Given the description of an element on the screen output the (x, y) to click on. 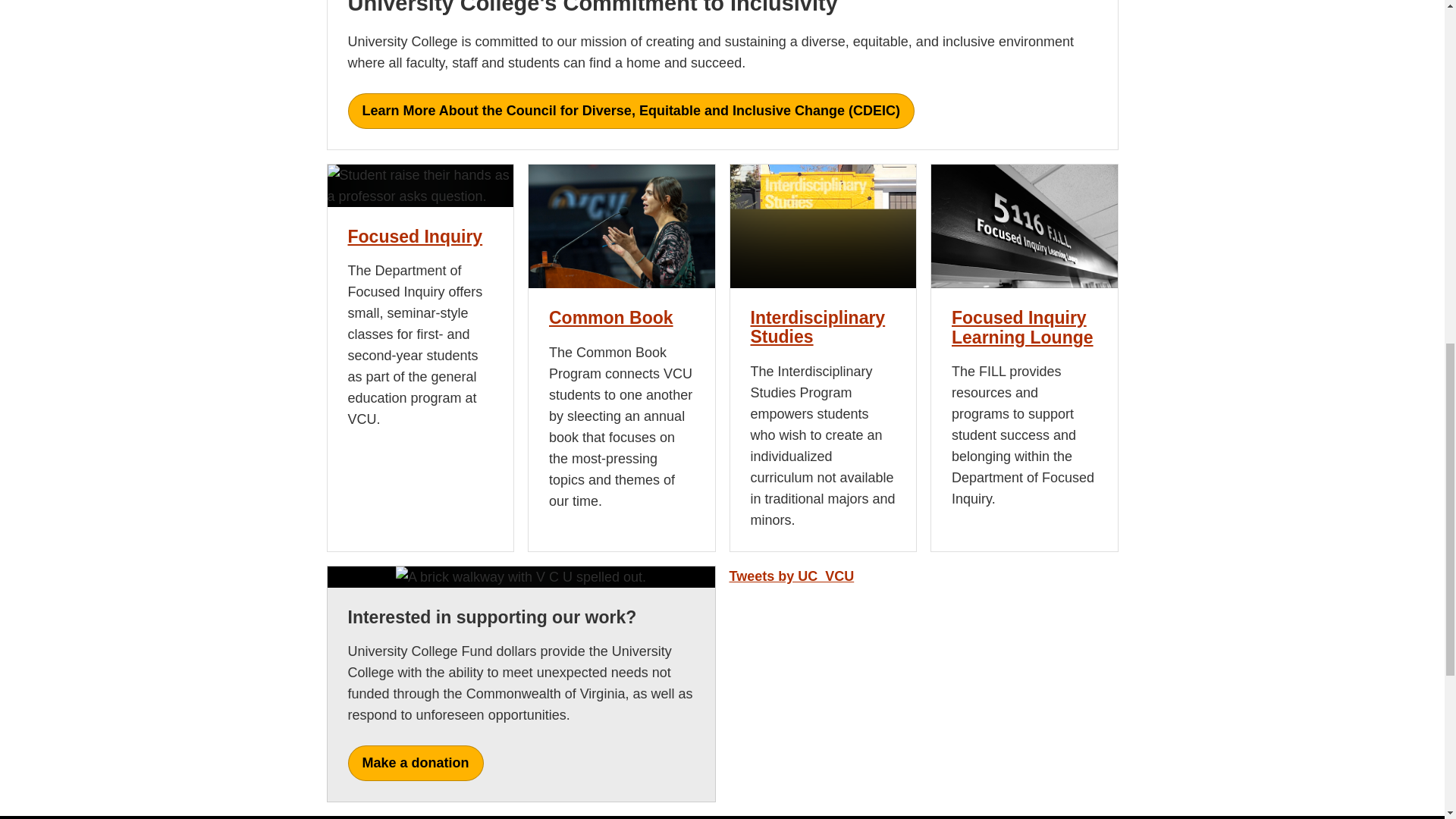
Common Book (610, 317)
Focused Inquiry Learning Lounge (1022, 326)
Interdisciplinary Studies (818, 326)
Make a donation (415, 763)
Focused Inquiry (414, 236)
